Given the description of an element on the screen output the (x, y) to click on. 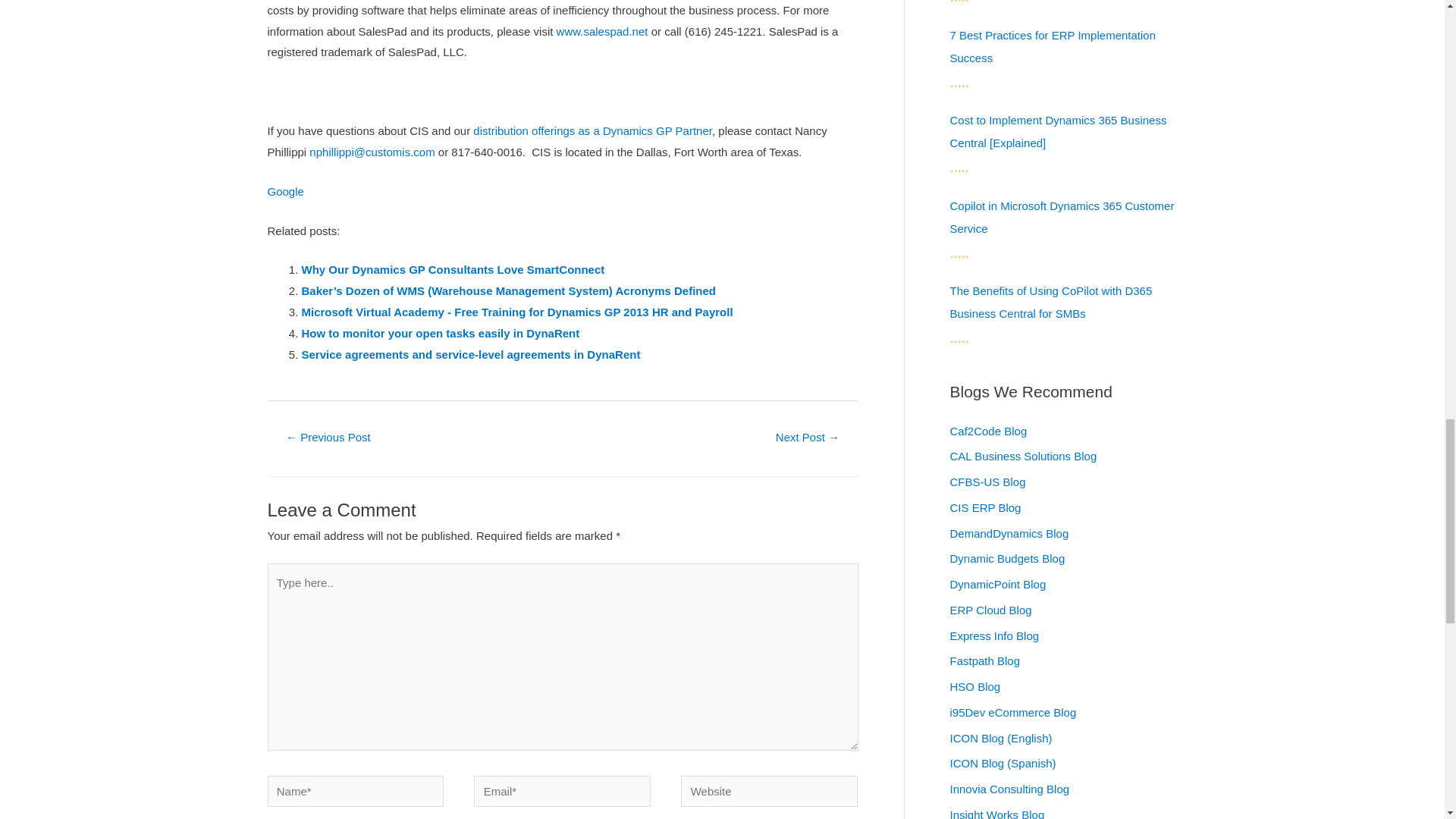
SalesPad for Mobile (601, 31)
Service agreements and service-level agreements in DynaRent (470, 354)
Dynamics GP Partner in Dallas Fort Worth (590, 130)
Nancy Phillippi  (369, 151)
New Reporting Solution for GP: Jet Express (807, 438)
How to monitor your open tasks easily in DynaRent (440, 332)
Why Our Dynamics GP Consultants Love SmartConnect (453, 269)
